Given the description of an element on the screen output the (x, y) to click on. 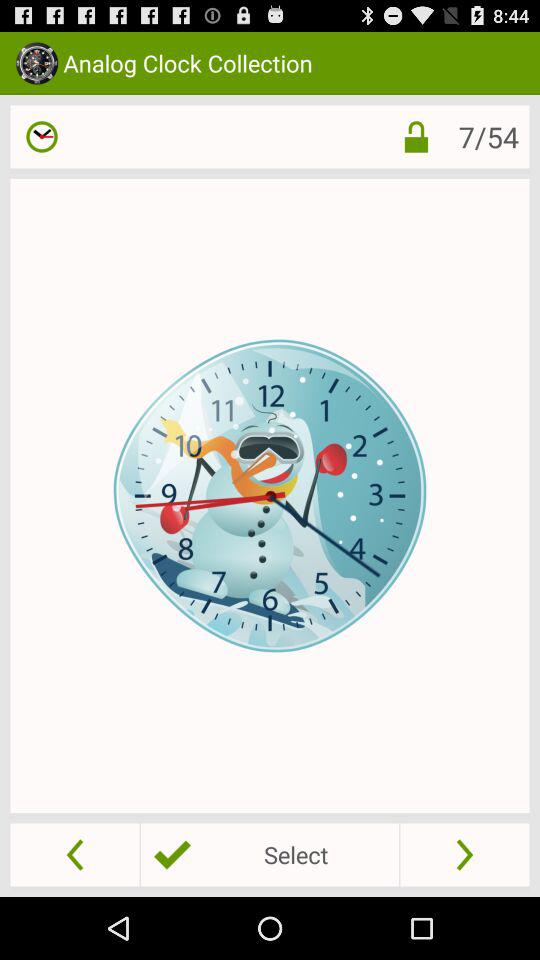
swipe to the select icon (269, 854)
